Given the description of an element on the screen output the (x, y) to click on. 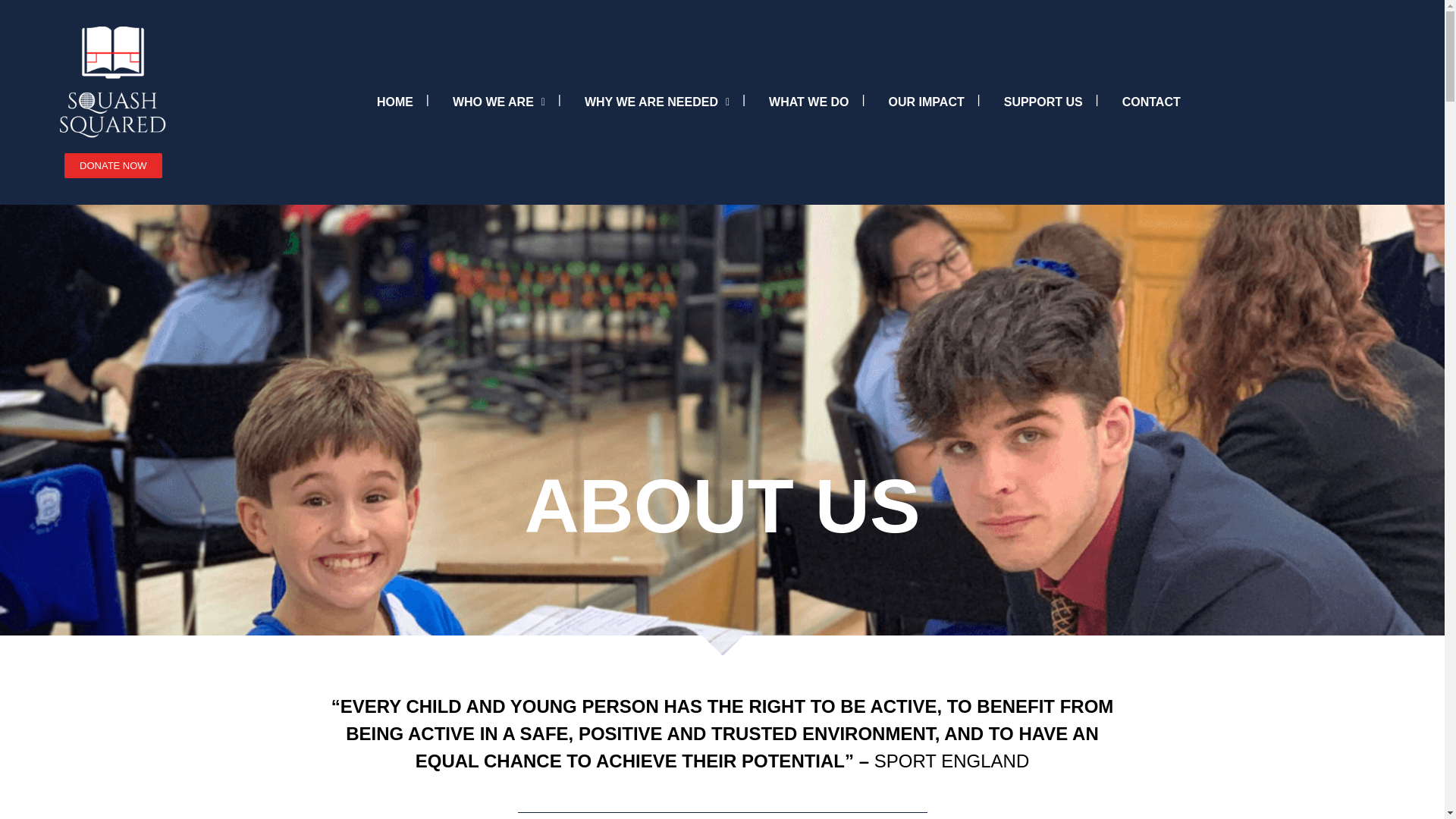
Squash (112, 82)
WHO WE ARE (498, 102)
CONTACT (1151, 102)
WHY WE ARE NEEDED (657, 102)
OUR IMPACT (925, 102)
HOME (395, 102)
DONATE NOW (112, 165)
SUPPORT US (1043, 102)
WHAT WE DO (808, 102)
